Given the description of an element on the screen output the (x, y) to click on. 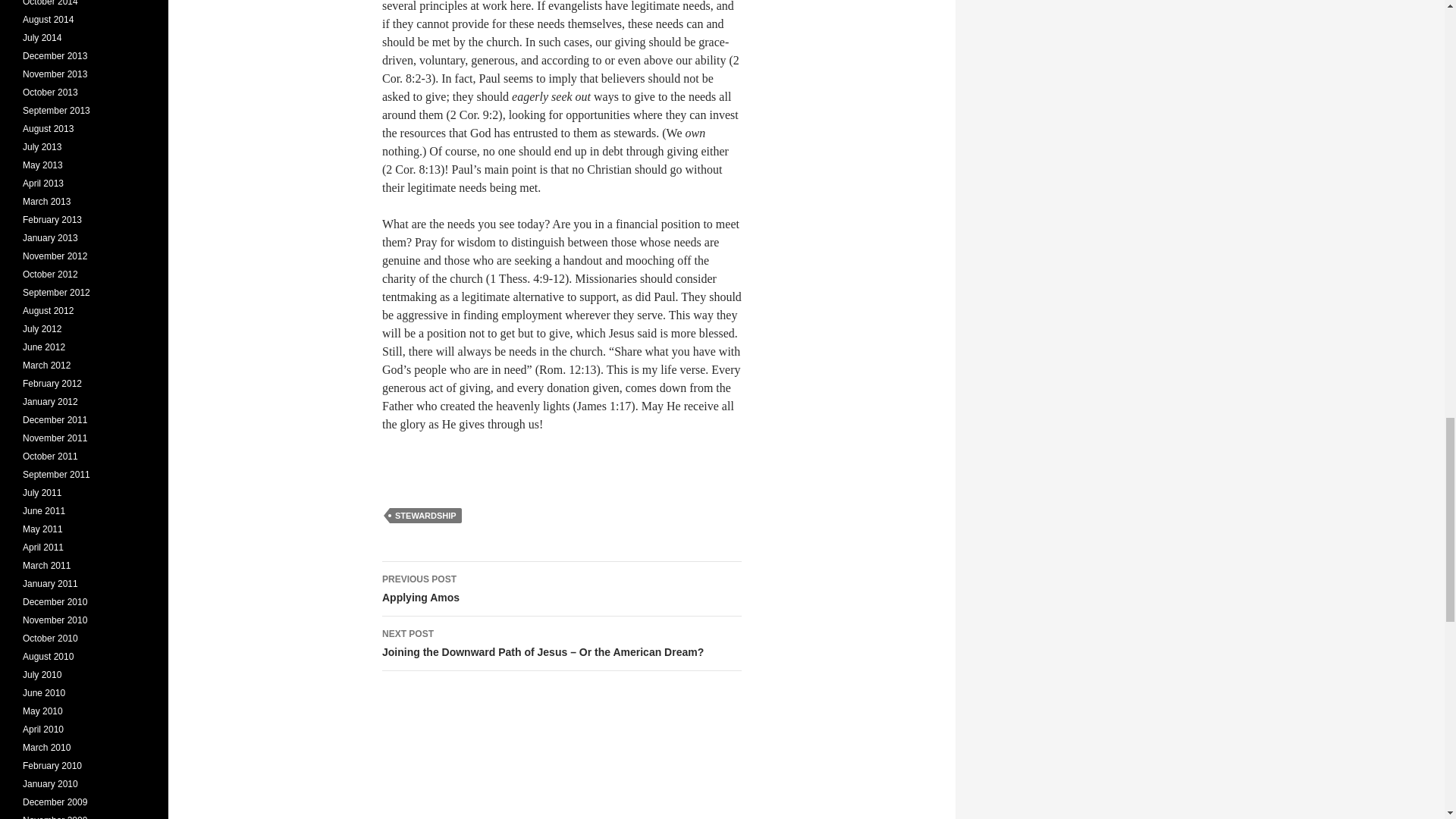
STEWARDSHIP (561, 588)
